Given the description of an element on the screen output the (x, y) to click on. 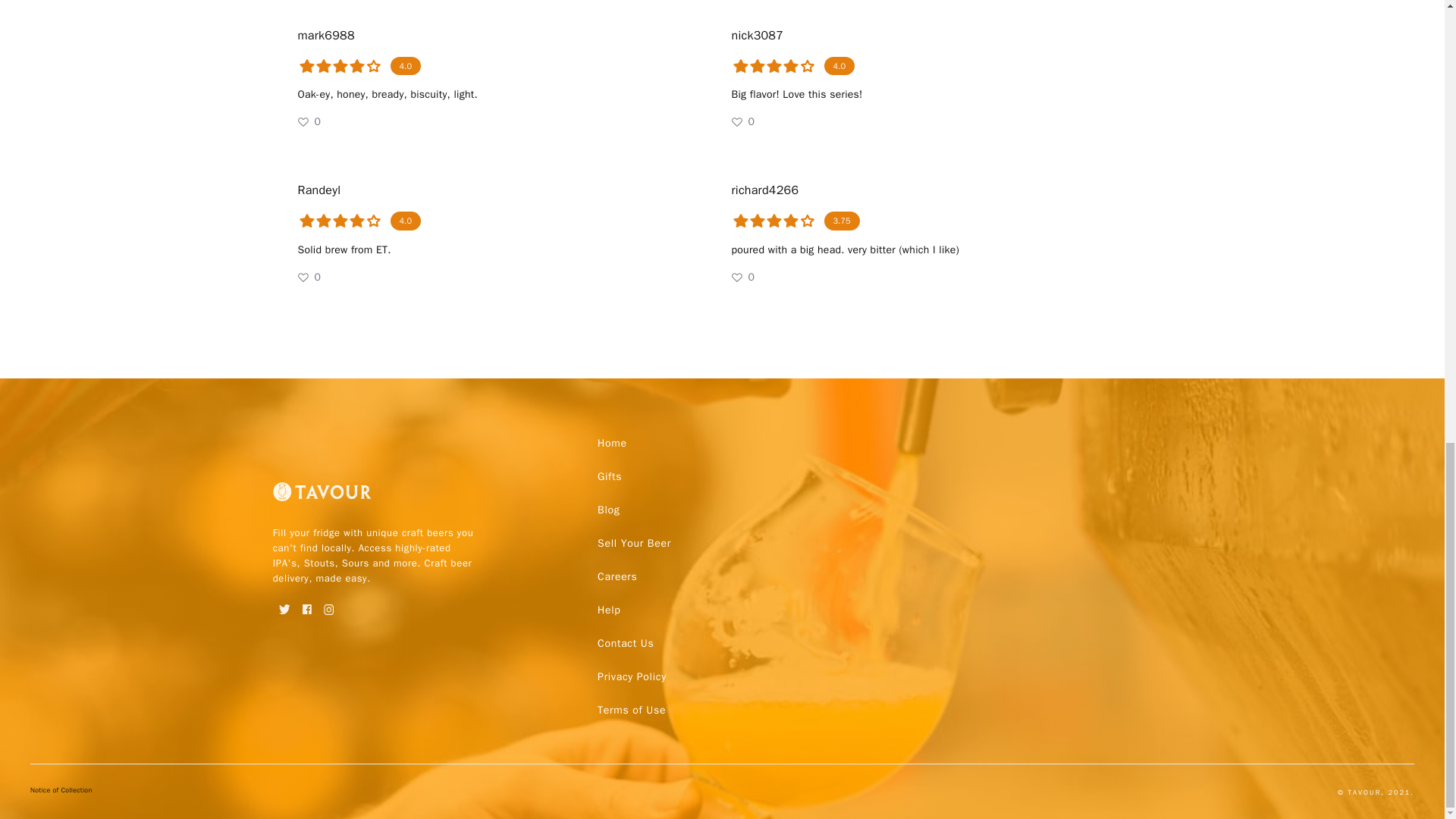
Notice of Collection (61, 792)
FAQ (631, 710)
FAQ (625, 643)
Privacy Policy (631, 676)
FAQ (631, 676)
Home (612, 443)
Contact Us (625, 643)
sell your beer (633, 543)
Sell Your Beer (633, 543)
blog (608, 510)
